Given the description of an element on the screen output the (x, y) to click on. 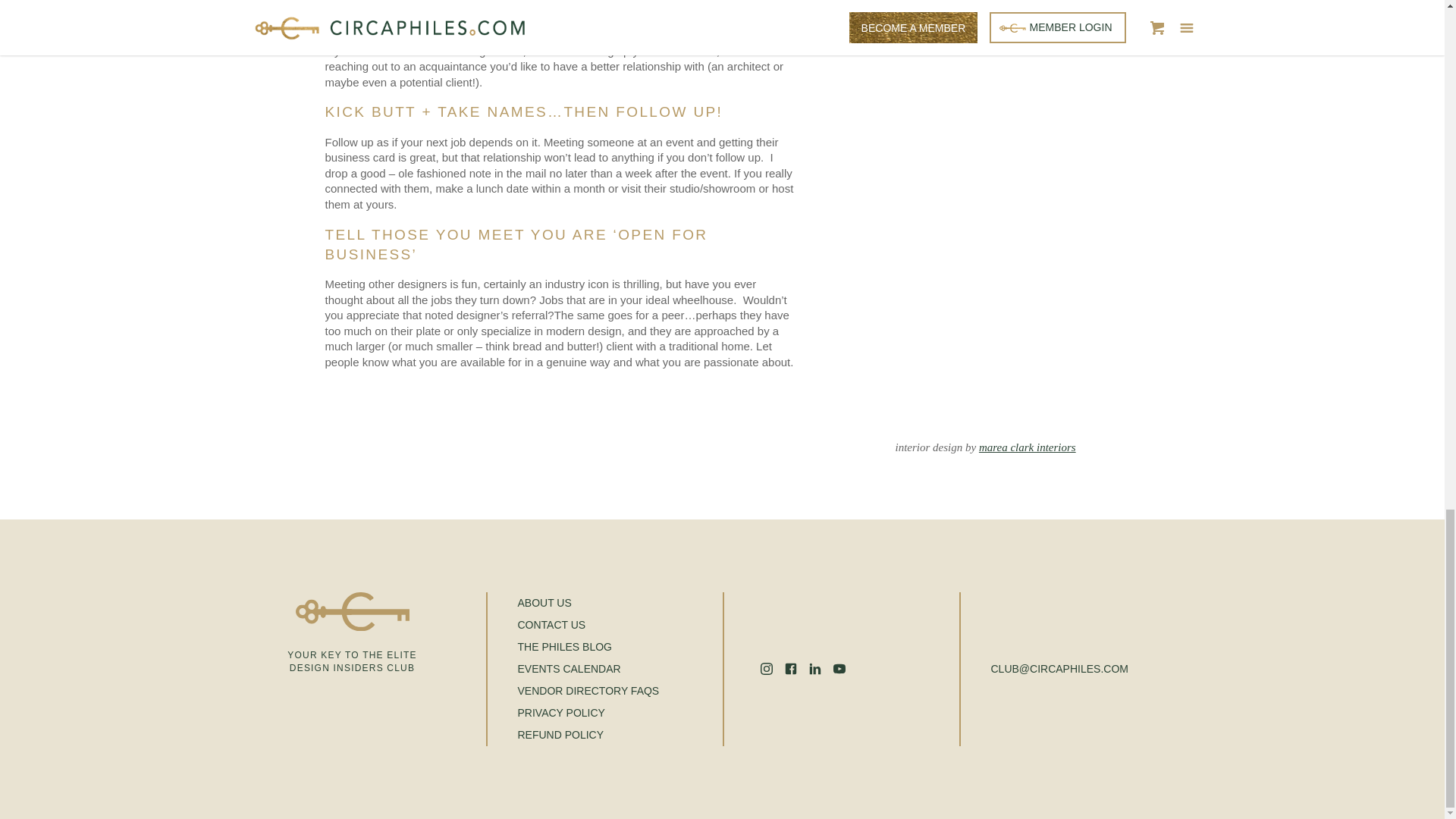
PRIVACY POLICY (587, 712)
marea clark interiors (1026, 447)
REFUND POLICY (587, 734)
VENDOR DIRECTORY FAQS (587, 690)
THE PHILES BLOG (587, 647)
EVENTS CALENDAR (587, 669)
CONTACT US (587, 625)
ABOUT US (587, 603)
